Given the description of an element on the screen output the (x, y) to click on. 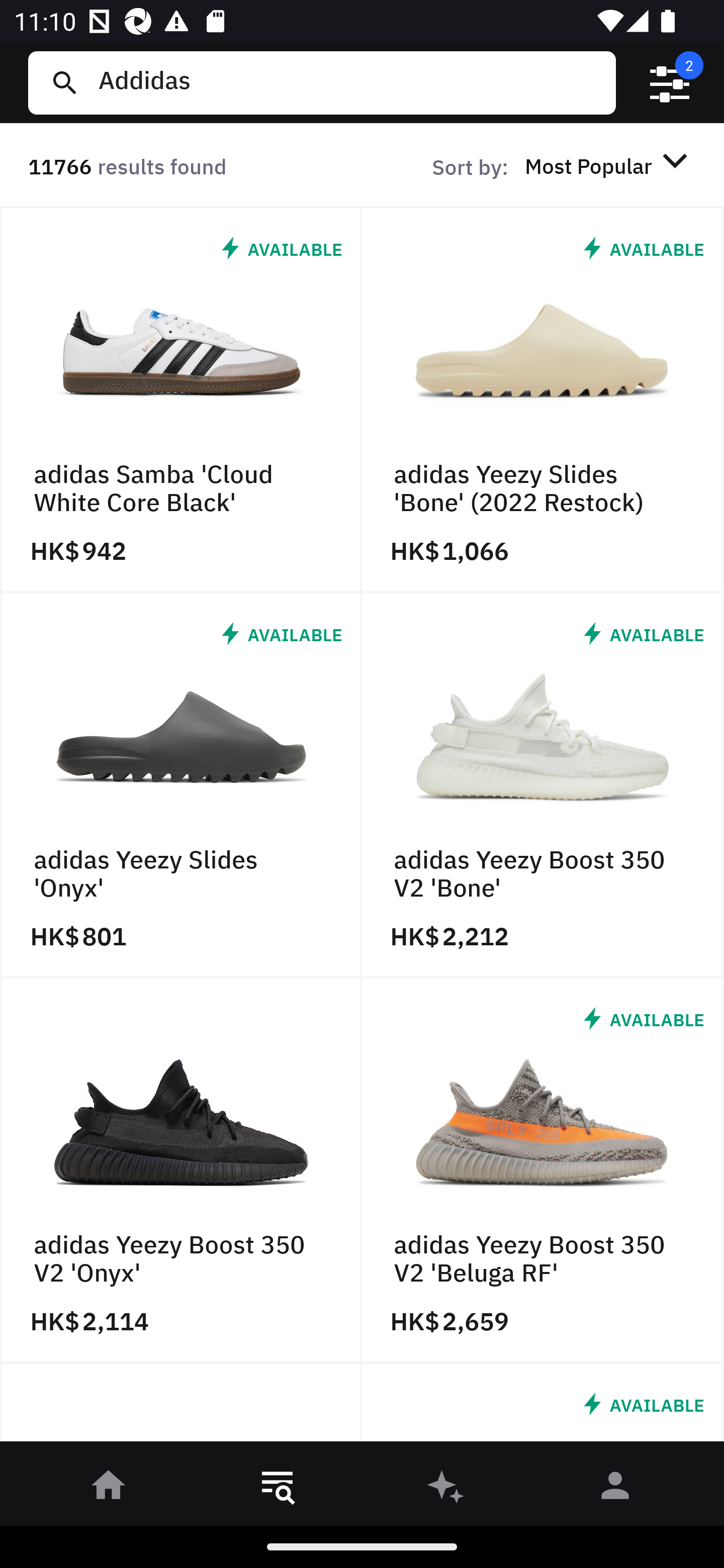
Addidas (349, 82)
 (669, 82)
Most Popular  (609, 165)
 AVAILABLE adidas Yeezy Slides 'Onyx' HK$ 801 (181, 785)
adidas Yeezy Boost 350 V2 'Onyx' HK$ 2,114 (181, 1171)
󰋜 (108, 1488)
󱎸 (277, 1488)
󰫢 (446, 1488)
󰀄 (615, 1488)
